Given the description of an element on the screen output the (x, y) to click on. 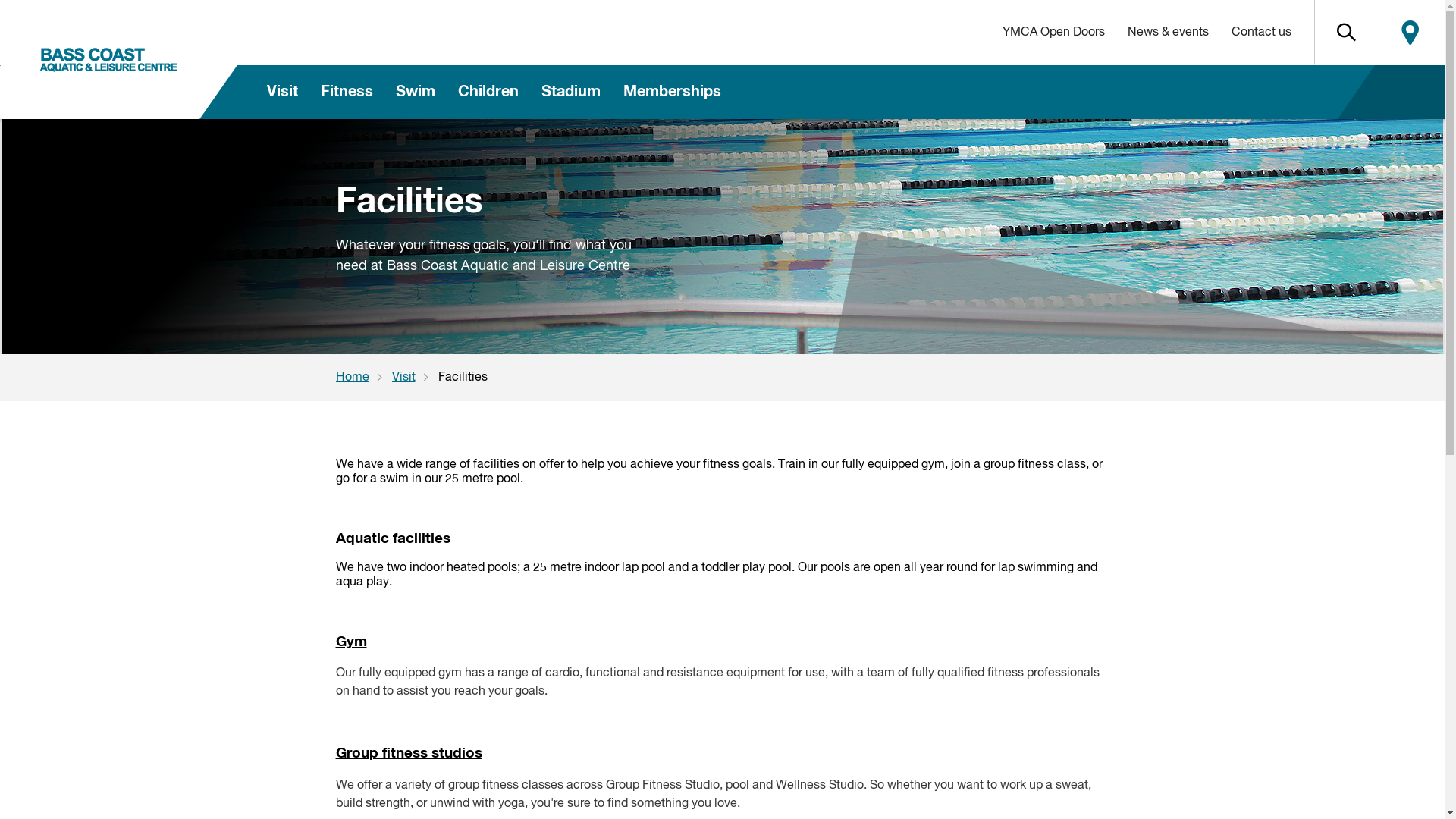
Home Element type: text (363, 377)
Swim Element type: text (414, 92)
Fitness Element type: text (346, 92)
Children Element type: text (487, 92)
Contact us Element type: text (1260, 32)
News & events Element type: text (1168, 32)
Visit Element type: text (281, 92)
Locate Element type: text (1410, 32)
Group fitness studios Element type: text (408, 753)
YMCA Open Doors Element type: text (1052, 32)
Visit Element type: text (414, 377)
Memberships Element type: text (671, 92)
Aquatic facilities Element type: text (392, 538)
Stadium Element type: text (570, 92)
Gym Element type: text (350, 641)
